Given the description of an element on the screen output the (x, y) to click on. 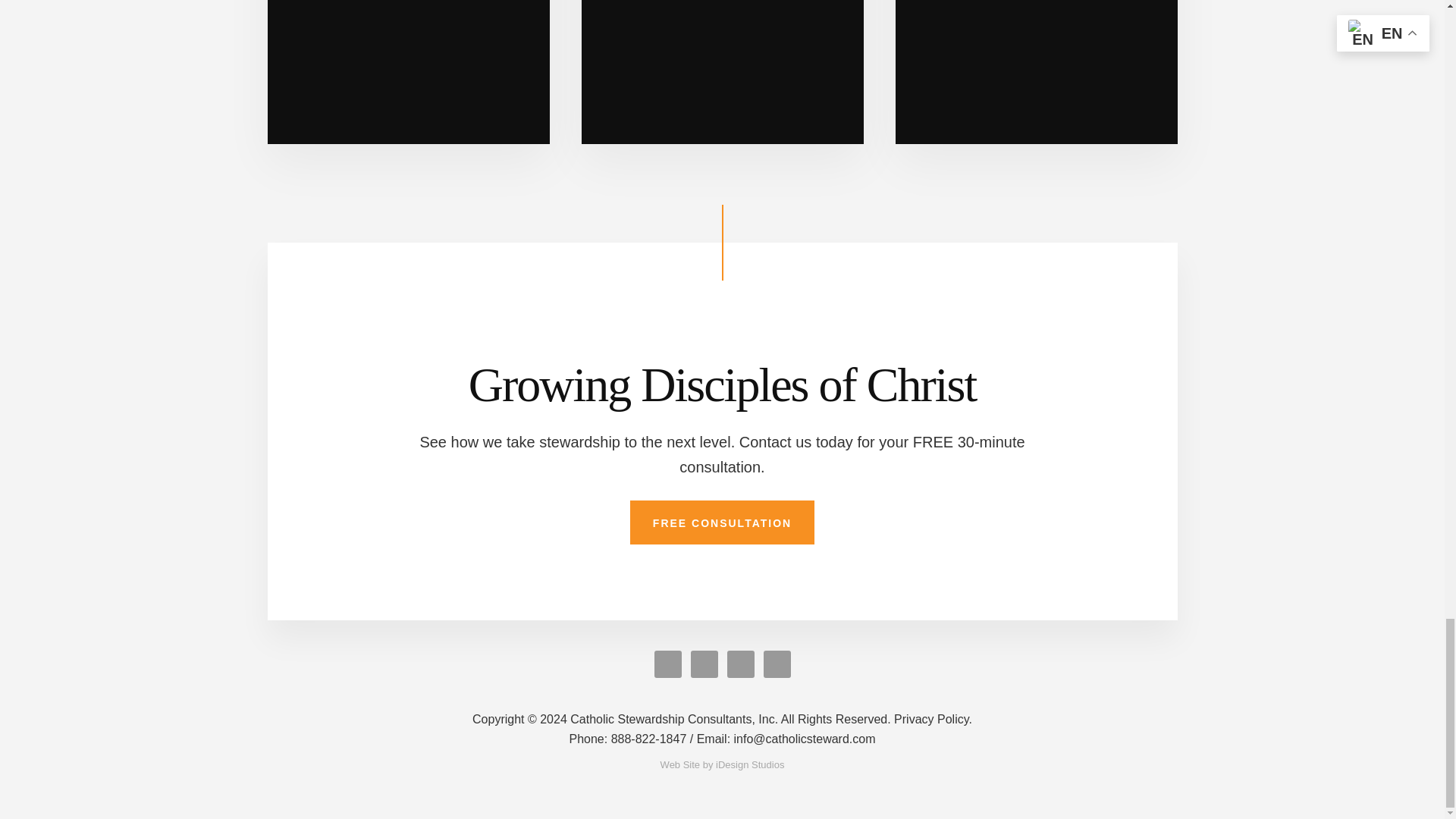
Email (786, 738)
About Us (407, 72)
Catholic Stewardship Consultants, Inc. (681, 718)
Privacy Policy (932, 718)
Stewardship Services (721, 72)
